Given the description of an element on the screen output the (x, y) to click on. 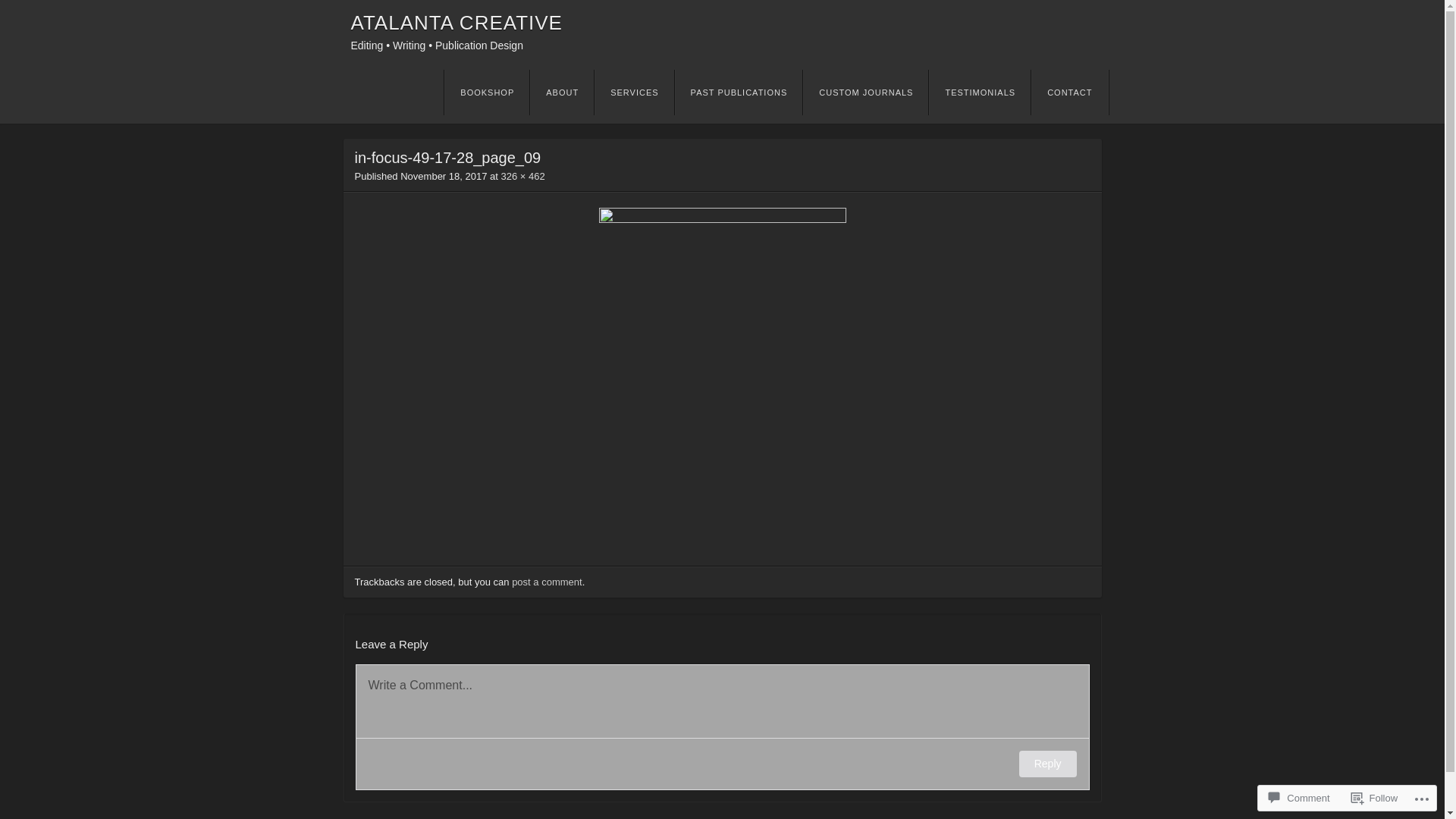
CUSTOM JOURNALS Element type: text (865, 92)
TESTIMONIALS Element type: text (979, 92)
CONTACT Element type: text (1069, 92)
ATALANTA CREATIVE Element type: text (455, 21)
Follow Element type: text (1374, 797)
SERVICES Element type: text (633, 92)
PAST PUBLICATIONS Element type: text (738, 92)
ABOUT Element type: text (561, 92)
Comment Element type: text (1298, 797)
in-focus-49-17-28_page_09 Element type: hover (722, 219)
post a comment Element type: text (546, 581)
Reply Element type: text (1047, 763)
BOOKSHOP Element type: text (486, 92)
